Given the description of an element on the screen output the (x, y) to click on. 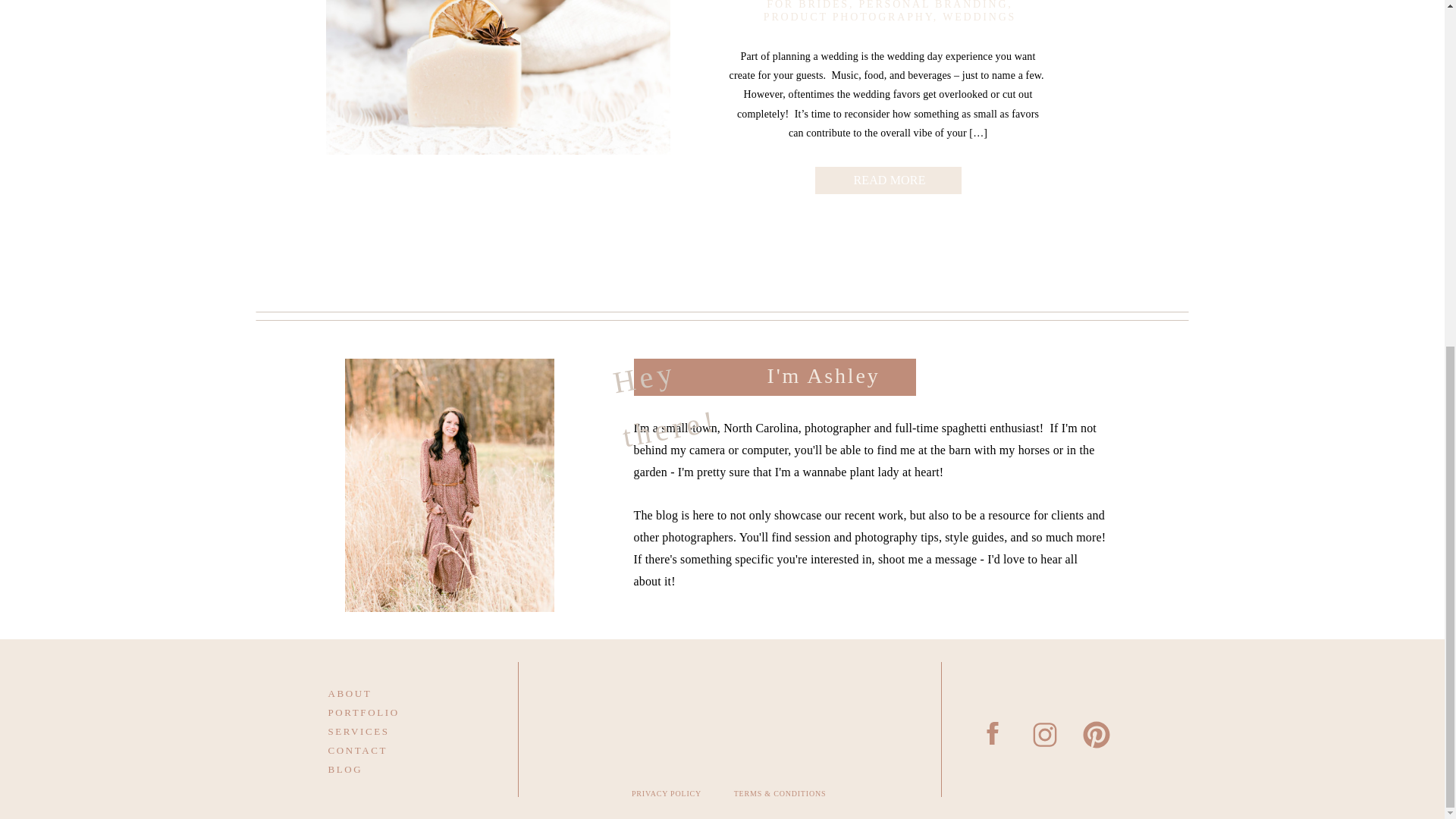
WEDDINGS (979, 16)
Unique Wedding Favors That Will Delight Your Guests (497, 77)
PORTFOLIO (384, 711)
CONTACT (384, 749)
PERSONAL BRANDING (933, 4)
SERVICES (384, 729)
FOR BRIDES (807, 4)
PRIVACY POLICY (666, 797)
Unique Wedding Favors That Will Delight Your Guests (888, 177)
READ MORE (888, 177)
